Given the description of an element on the screen output the (x, y) to click on. 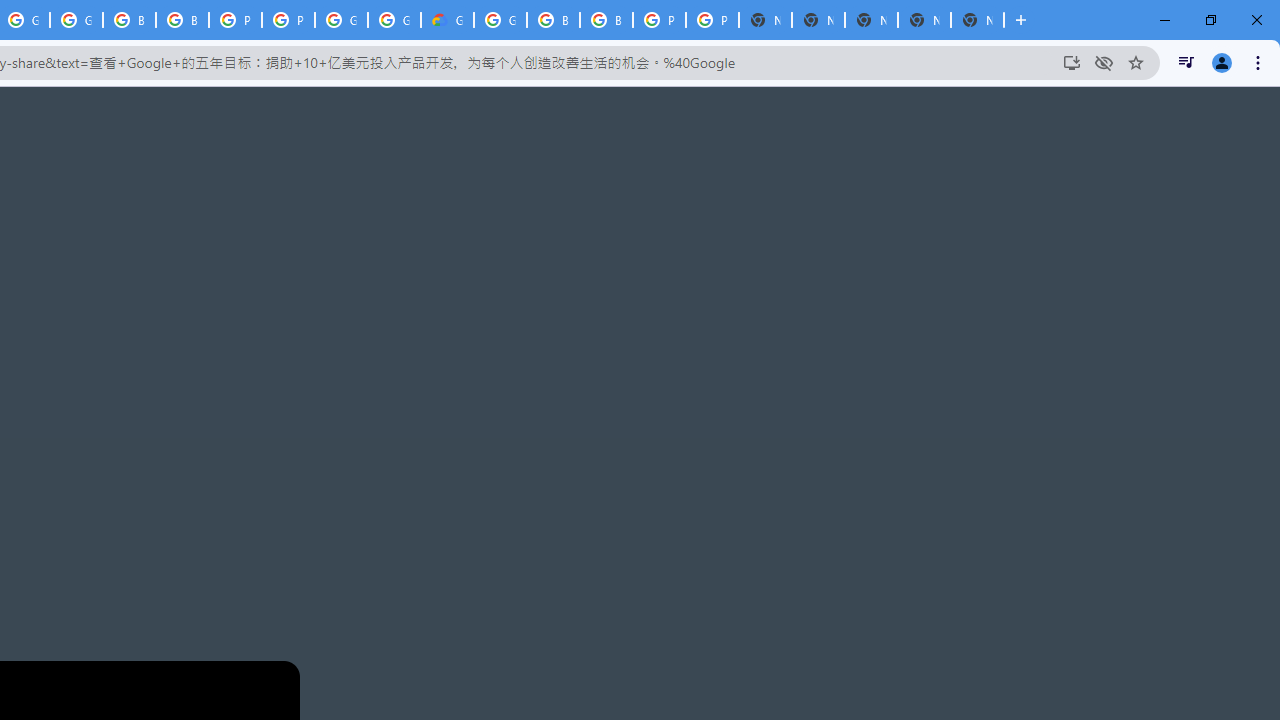
Install X (1071, 62)
Browse Chrome as a guest - Computer - Google Chrome Help (182, 20)
